Given the description of an element on the screen output the (x, y) to click on. 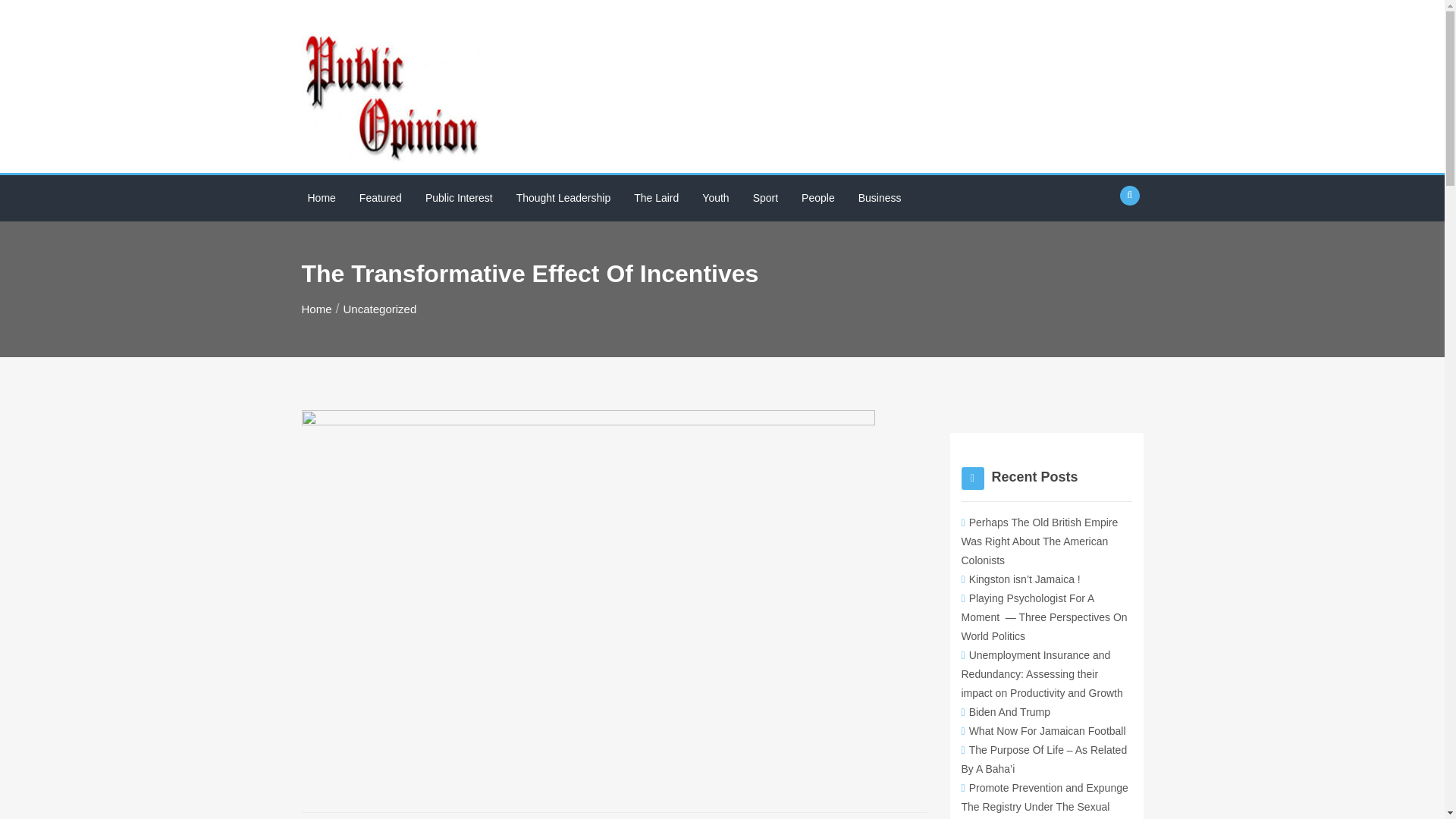
Home (316, 308)
Thought Leadership (564, 198)
Featured (380, 198)
People (817, 198)
Featured (380, 198)
Uncategorized (379, 308)
The Laird (655, 198)
People (817, 198)
Thought Leadership (564, 198)
The Laird (655, 198)
Biden And Trump (1005, 711)
Business (879, 198)
